Given the description of an element on the screen output the (x, y) to click on. 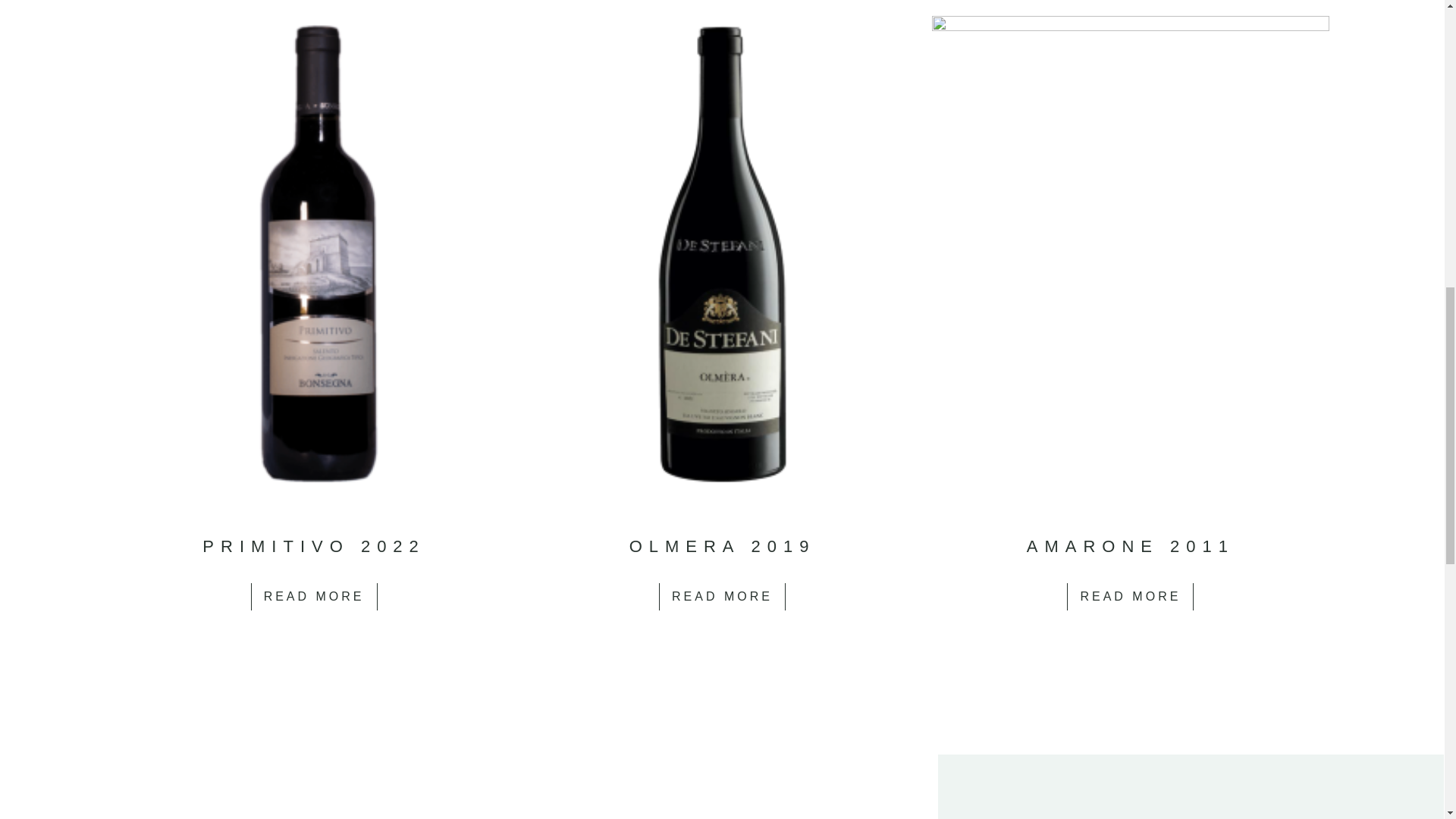
READ MORE (722, 596)
READ MORE (313, 596)
READ MORE (1130, 596)
